Given the description of an element on the screen output the (x, y) to click on. 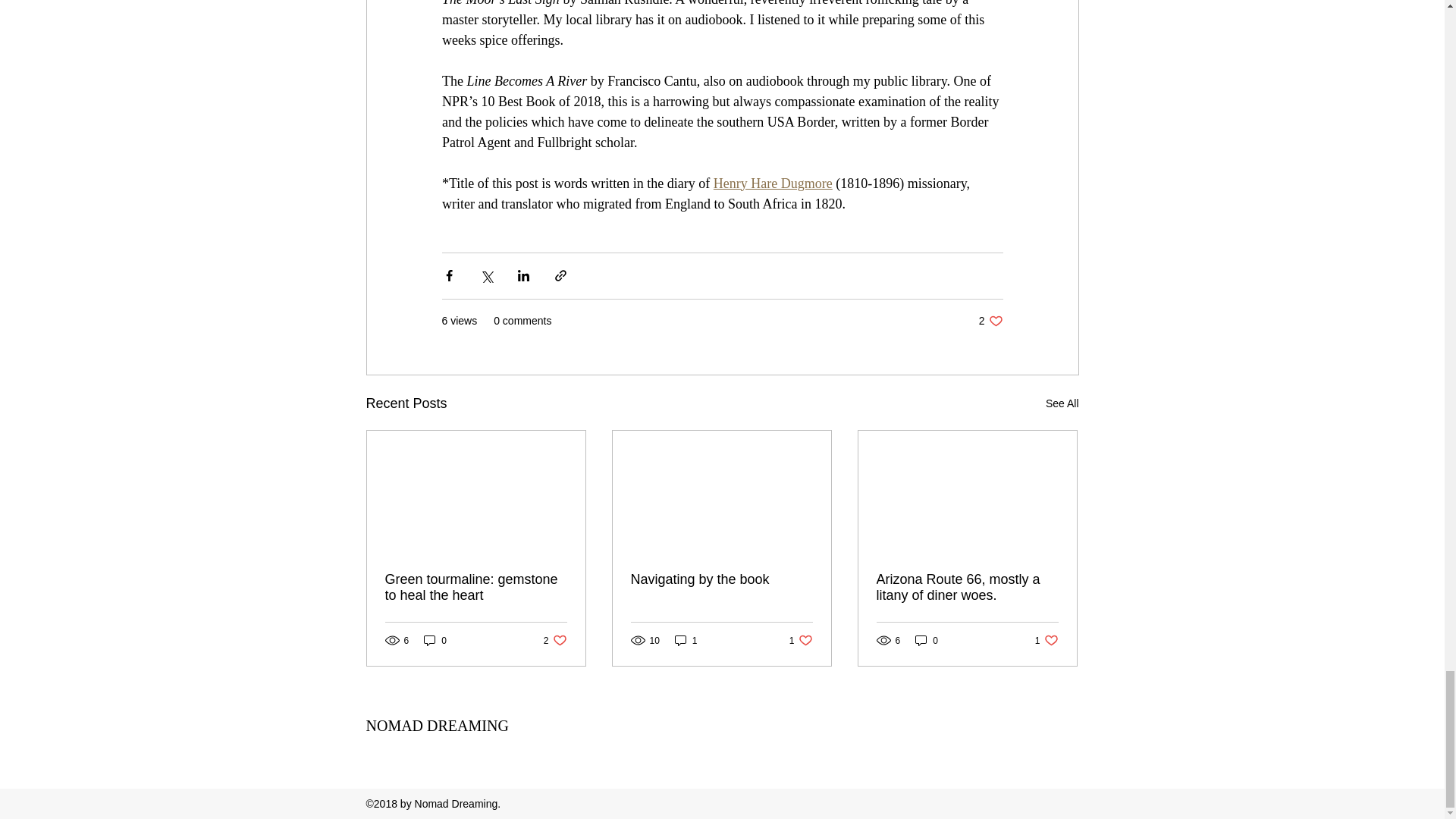
Arizona Route 66, mostly a litany of diner woes. (967, 587)
Green tourmaline: gemstone to heal the heart (555, 640)
0 (800, 640)
Navigating by the book (476, 587)
1 (435, 640)
See All (721, 579)
Henry Hare Dugmore (685, 640)
